Given the description of an element on the screen output the (x, y) to click on. 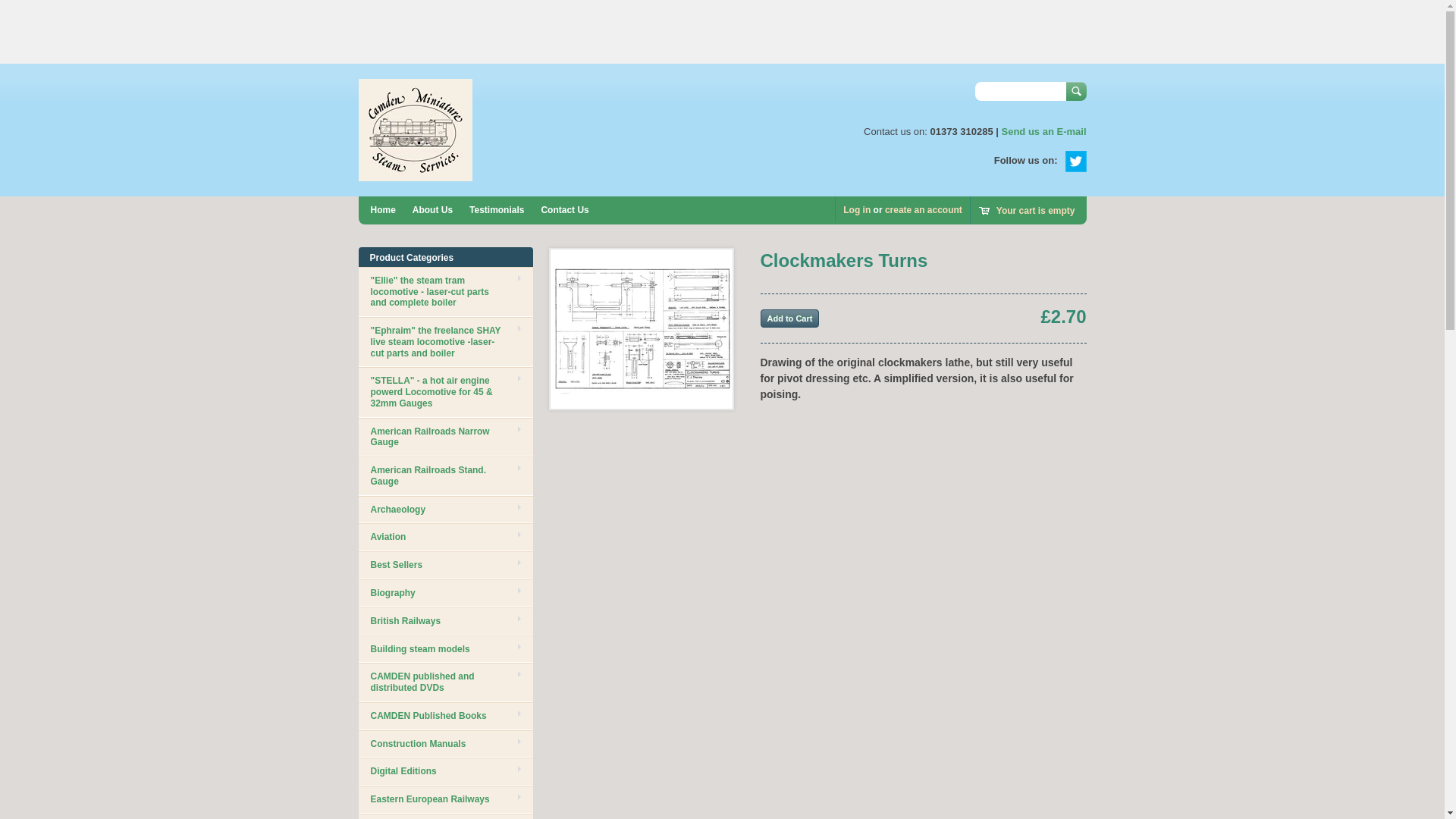
Product Categories (411, 257)
Search (1075, 90)
About Us (432, 210)
Building steam models (445, 649)
CAMDEN published and distributed DVDs (445, 681)
Archaeology (445, 510)
Eastern European Railways (445, 799)
Building steam models (445, 649)
Home (381, 210)
Add to Cart (789, 318)
CAMDEN Published Books (445, 715)
Biography (445, 593)
Electrical (445, 816)
Biography (445, 593)
American Railroads Narrow Gauge (445, 437)
